Given the description of an element on the screen output the (x, y) to click on. 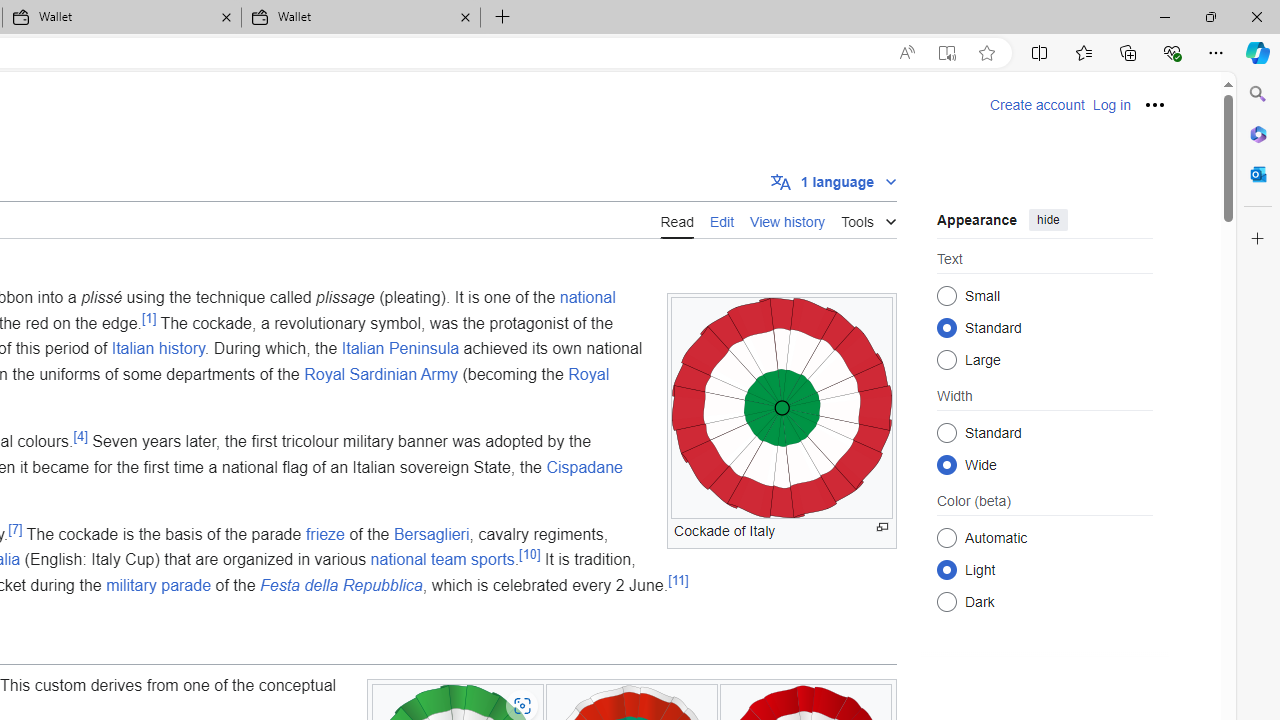
View history (787, 219)
Standard (946, 431)
Create account (1037, 105)
[1] (149, 318)
Log in (1111, 105)
Automatic (946, 537)
